Given the description of an element on the screen output the (x, y) to click on. 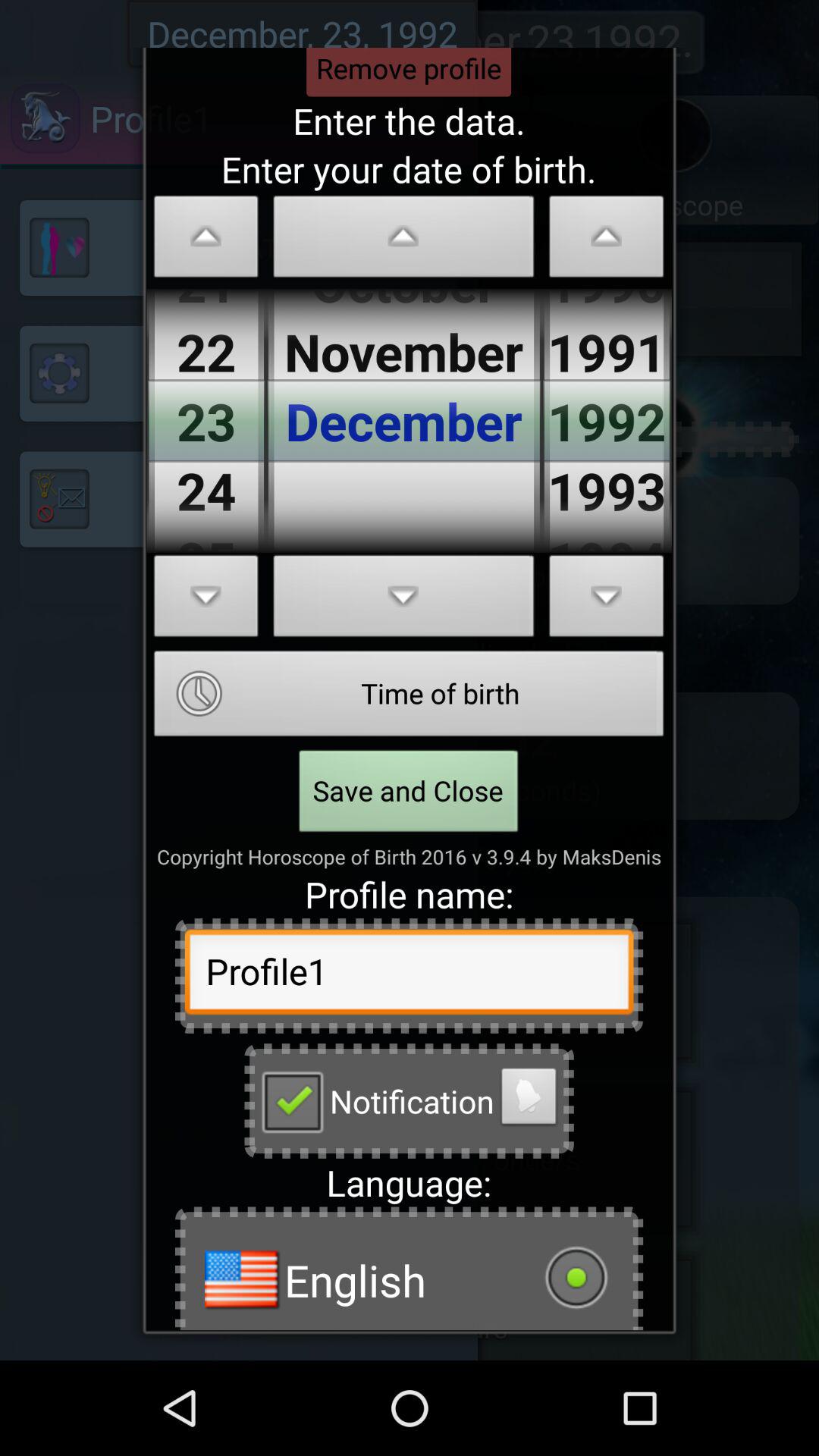
more date options (606, 600)
